Given the description of an element on the screen output the (x, y) to click on. 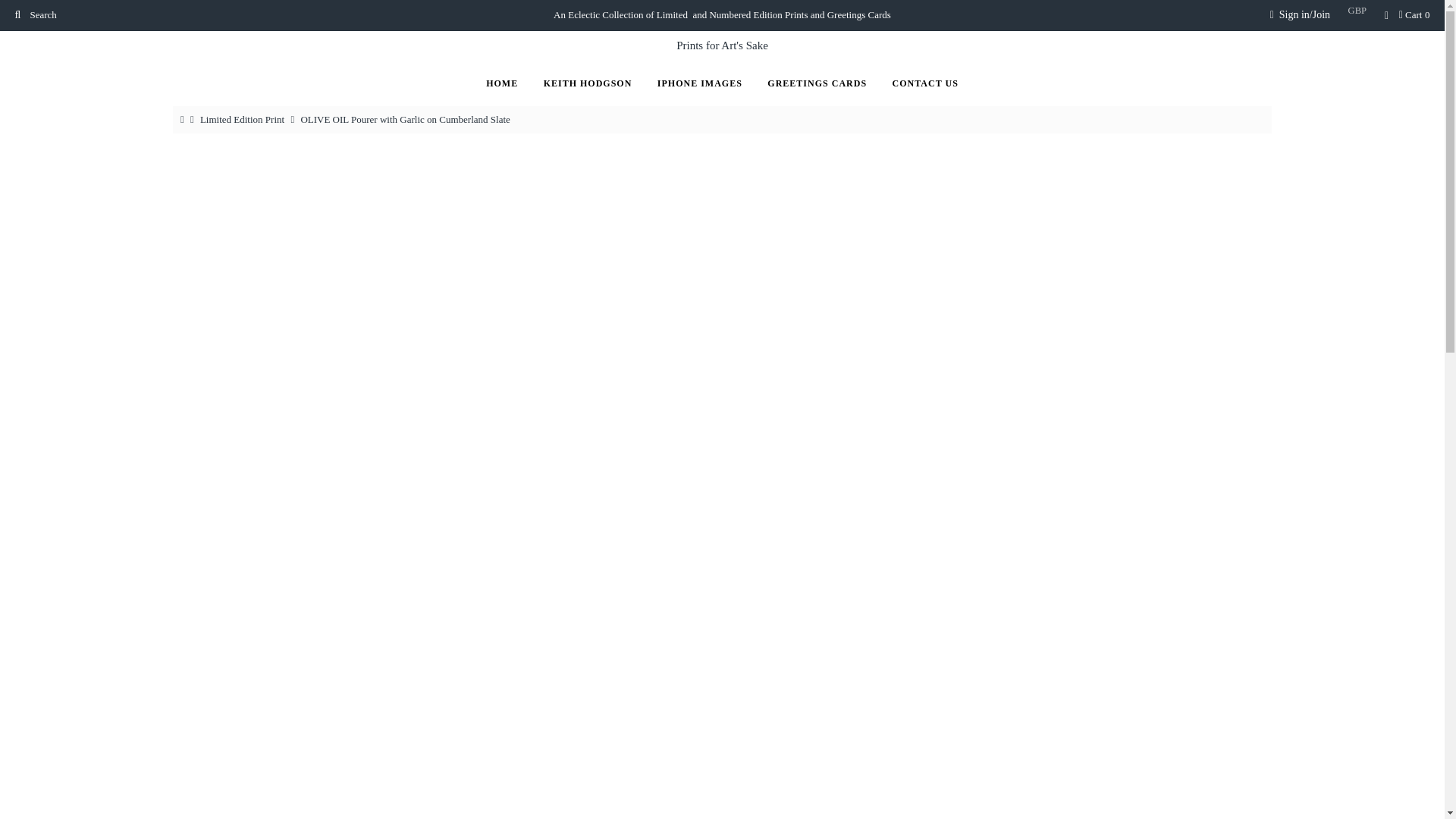
HOME (501, 82)
Limited Edition Print (244, 119)
Limited Edition Print (244, 119)
GREETINGS CARDS (816, 82)
CONTACT US (924, 82)
 Cart 0 (1414, 14)
Prints for Art's Sake (721, 45)
KEITH HODGSON (587, 82)
IPHONE IMAGES (700, 82)
